Given the description of an element on the screen output the (x, y) to click on. 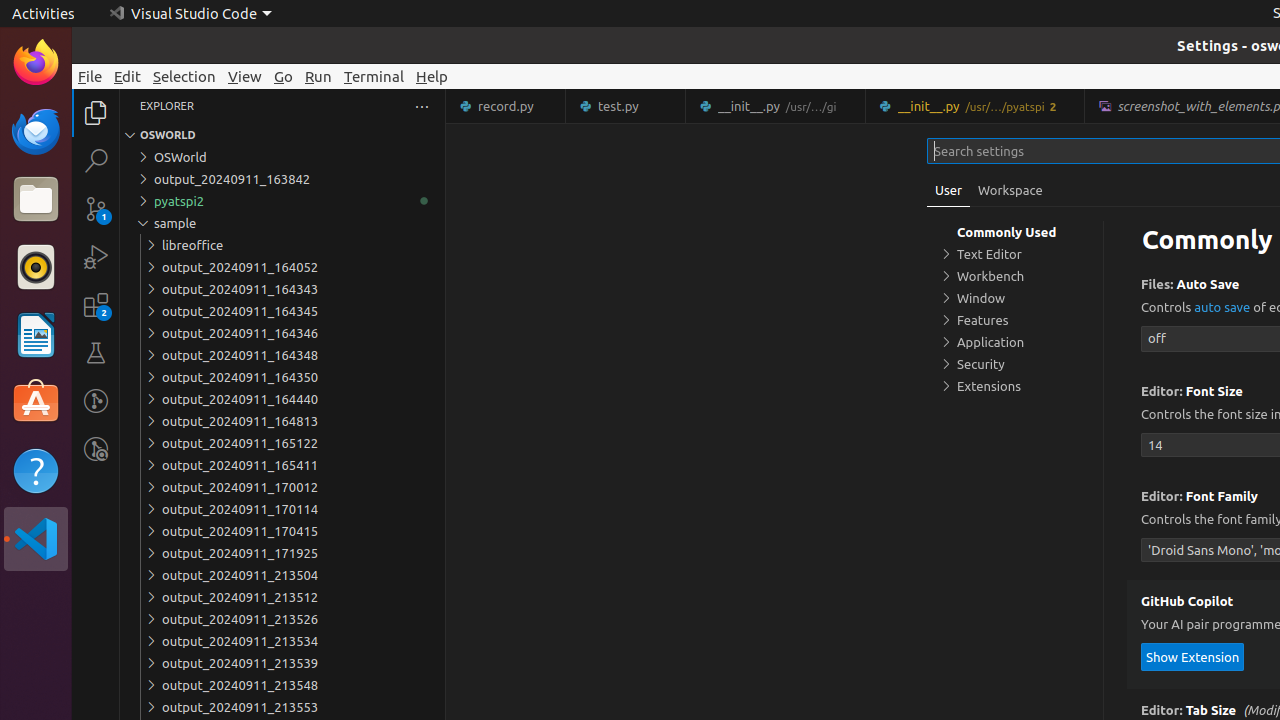
sample Element type: tree-item (282, 223)
Run Element type: push-button (318, 76)
Security, group Element type: tree-item (1015, 364)
output_20240911_213504 Element type: tree-item (282, 575)
